Given the description of an element on the screen output the (x, y) to click on. 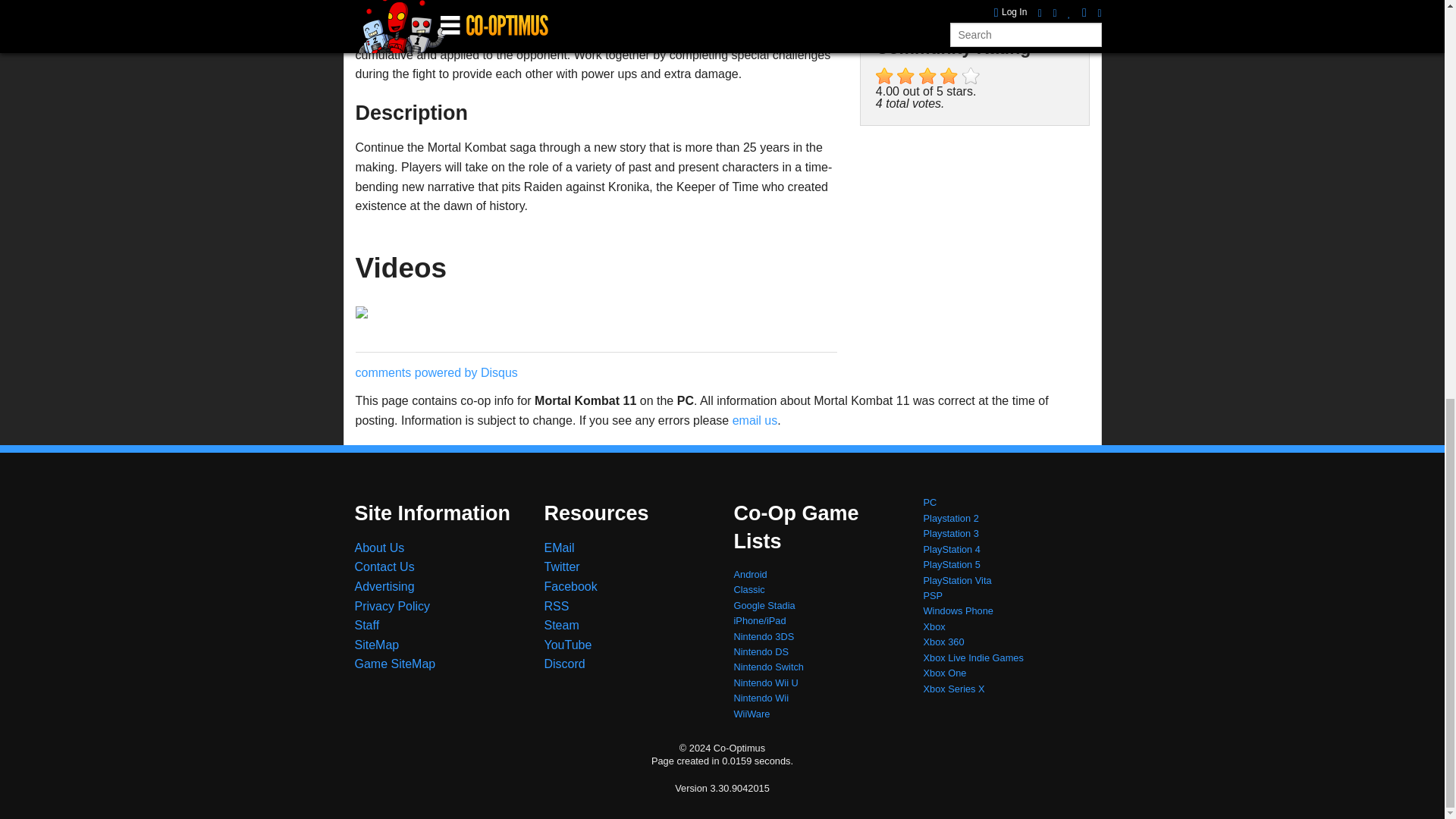
poor (905, 76)
Join our Steam Group! (561, 625)
regular (927, 76)
comments powered by Disqus (435, 372)
bad (884, 76)
Advertising rates and traffic numbers. (384, 585)
good (949, 76)
gorgeous (970, 76)
Our current staff and bios. (367, 625)
